Given the description of an element on the screen output the (x, y) to click on. 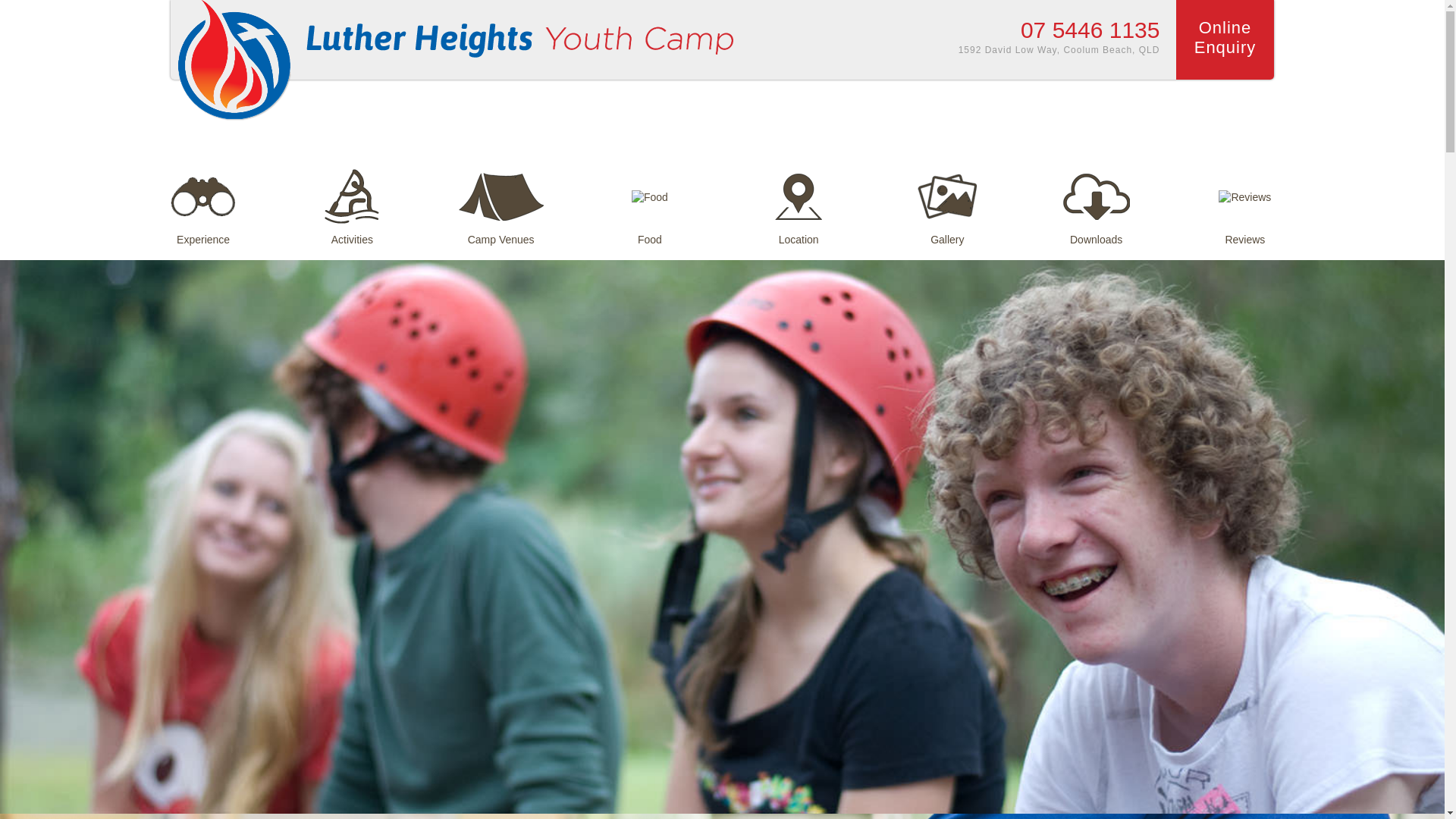
Downloads (1096, 199)
07 5446 1135 (1090, 29)
Online Enquiry (1225, 39)
Reviews (1244, 199)
Camp Venues (500, 199)
Gallery (947, 199)
Experience (203, 199)
Food (649, 199)
Location (799, 199)
Activities (352, 199)
